Given the description of an element on the screen output the (x, y) to click on. 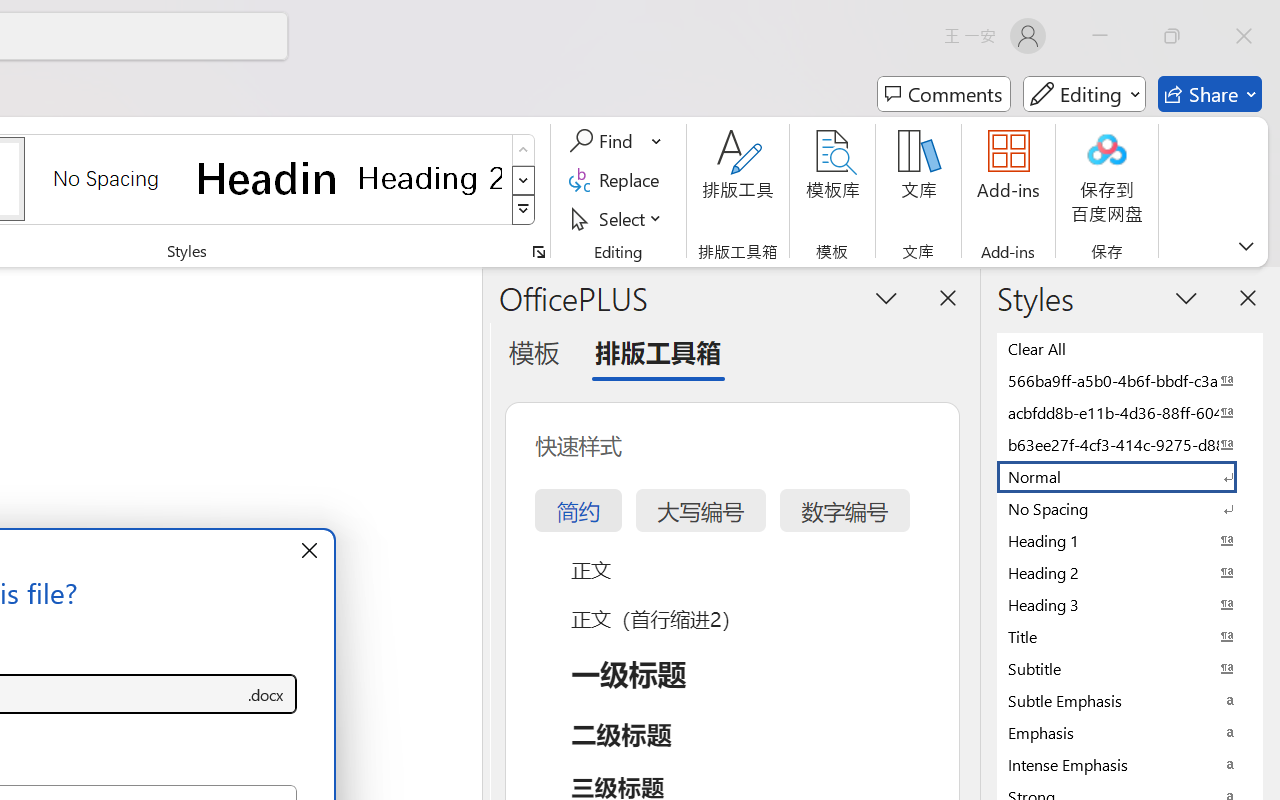
Row up (523, 150)
Ribbon Display Options (1246, 245)
Heading 1 (267, 178)
Heading 3 (1130, 604)
Row Down (523, 180)
